Given the description of an element on the screen output the (x, y) to click on. 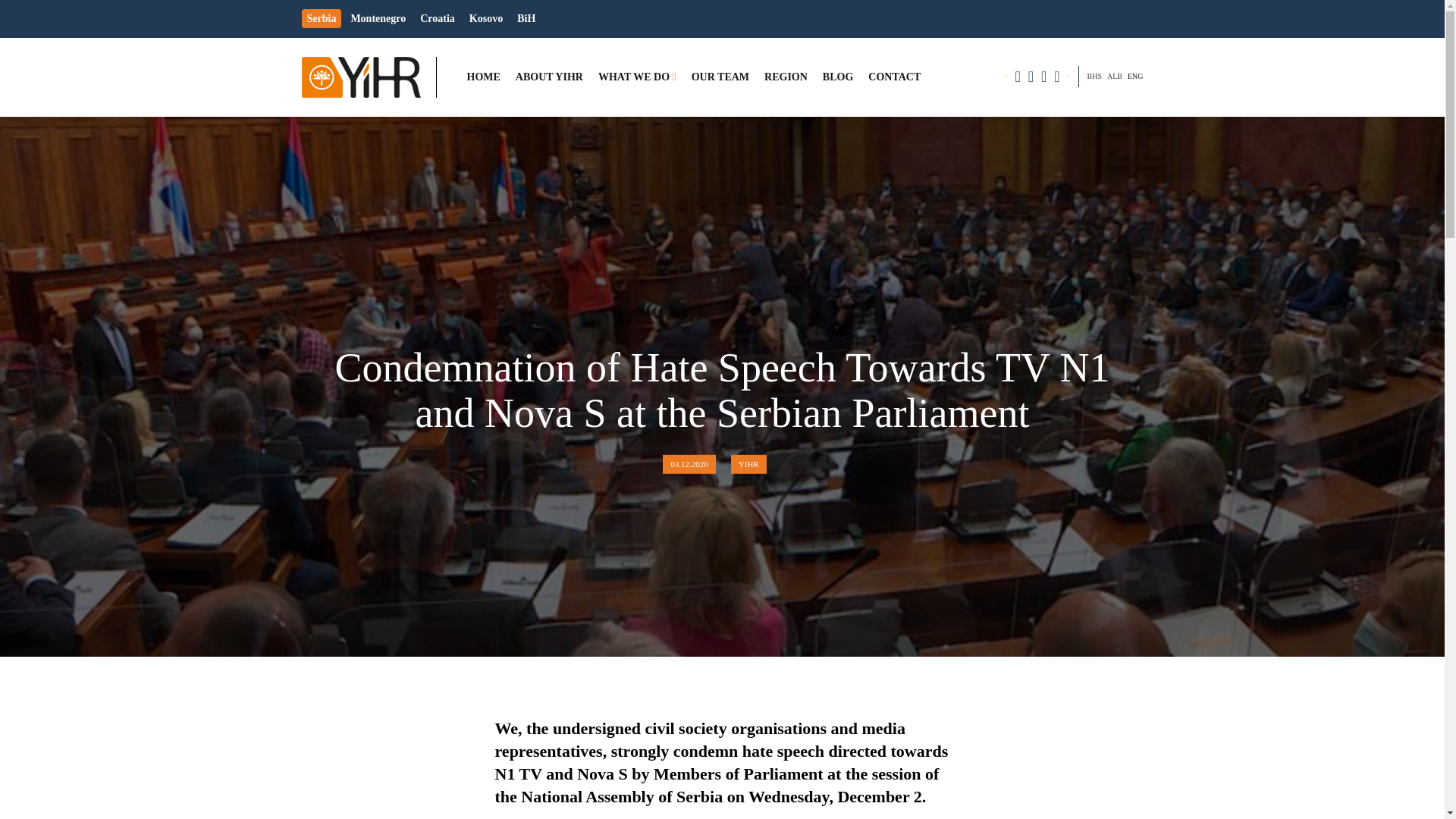
Serbia (321, 18)
ABOUT YIHR (549, 76)
HOME (483, 76)
WHAT WE DO (633, 76)
REGION (786, 76)
Croatia (437, 18)
BiH (526, 18)
Montenegro (377, 18)
OUR TEAM (720, 76)
BHS (1093, 76)
BLOG (837, 76)
CONTACT (893, 76)
Kosovo (486, 18)
ALB (1114, 76)
